Given the description of an element on the screen output the (x, y) to click on. 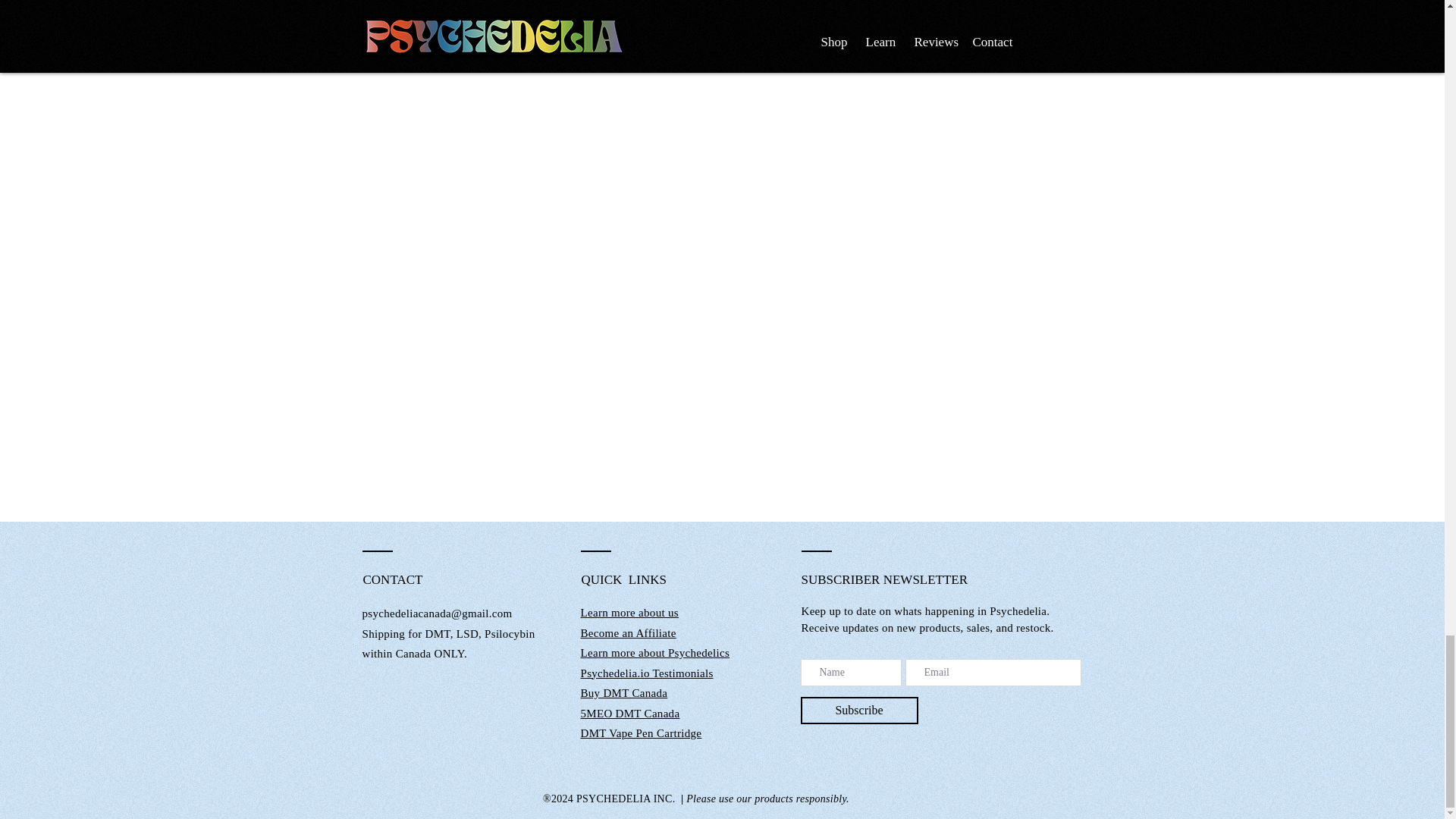
Learn more about us (629, 612)
DMT Vape Pen Cartridge (640, 733)
Subscribe (859, 709)
Learn more about Psychedelics (655, 653)
Become an Affiliate (628, 632)
Psychedelia.io Testimonials (646, 673)
5MEO DMT Canada (629, 712)
Buy DMT Canada (624, 693)
